Given the description of an element on the screen output the (x, y) to click on. 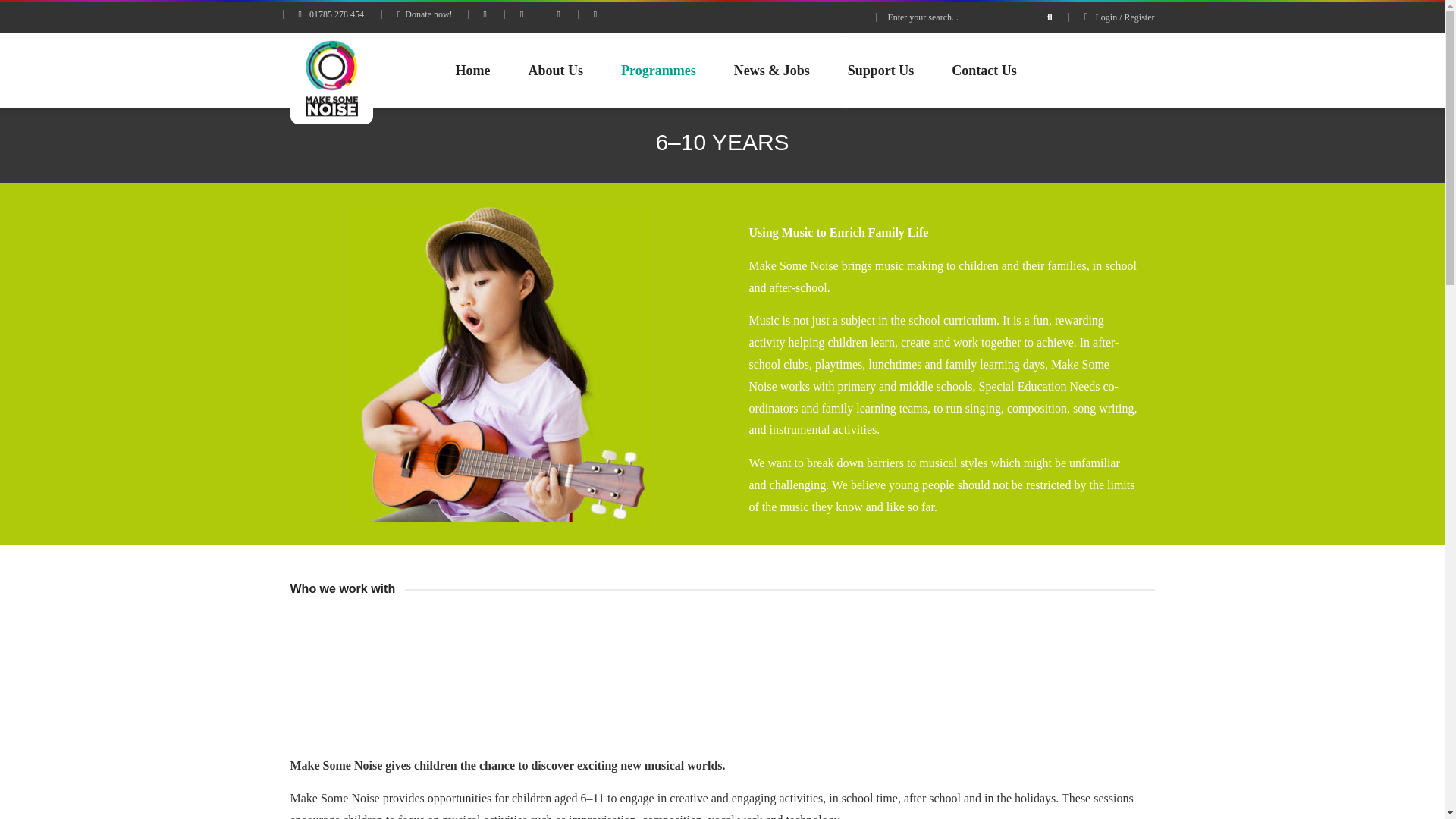
Contact Us (983, 70)
Home (473, 70)
Support Us (880, 70)
About Us (555, 70)
Little Chinese Girl Singing and Playing Ukulele (500, 364)
  Donate now! (424, 14)
Programmes (658, 70)
